Given the description of an element on the screen output the (x, y) to click on. 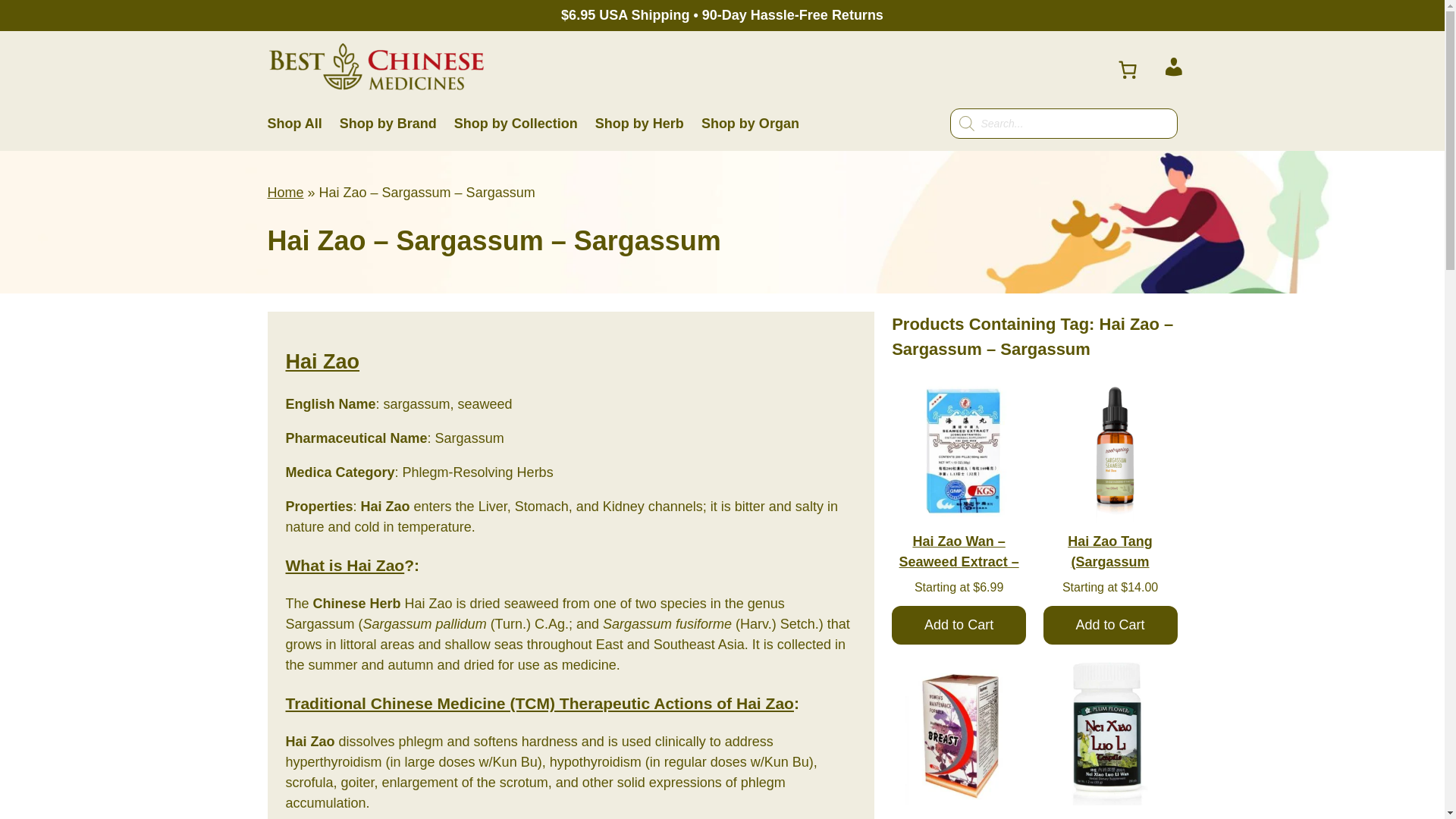
Add to Cart (958, 625)
Shop by Collection (516, 123)
Shop by Herb (639, 123)
Shop All (293, 123)
Shop by Brand (387, 123)
Home (284, 192)
Submit (21, 7)
Add to Cart (1110, 625)
Shop by Organ (750, 123)
